Given the description of an element on the screen output the (x, y) to click on. 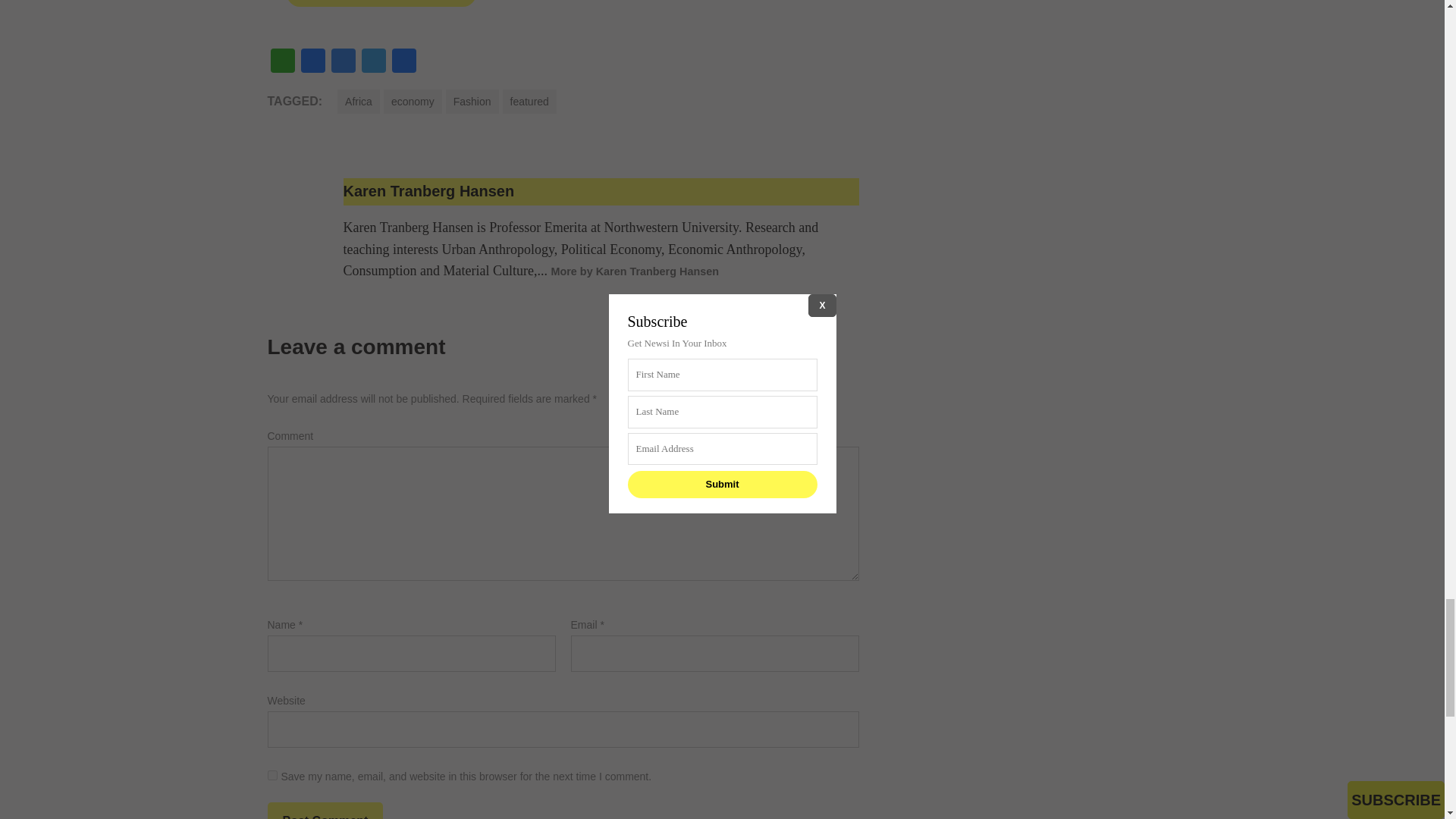
Twitter (373, 60)
Post Comment (324, 810)
Submit (381, 3)
yes (271, 775)
WhatsApp (281, 60)
Facebook (342, 60)
Email (312, 60)
Submit (381, 3)
